Given the description of an element on the screen output the (x, y) to click on. 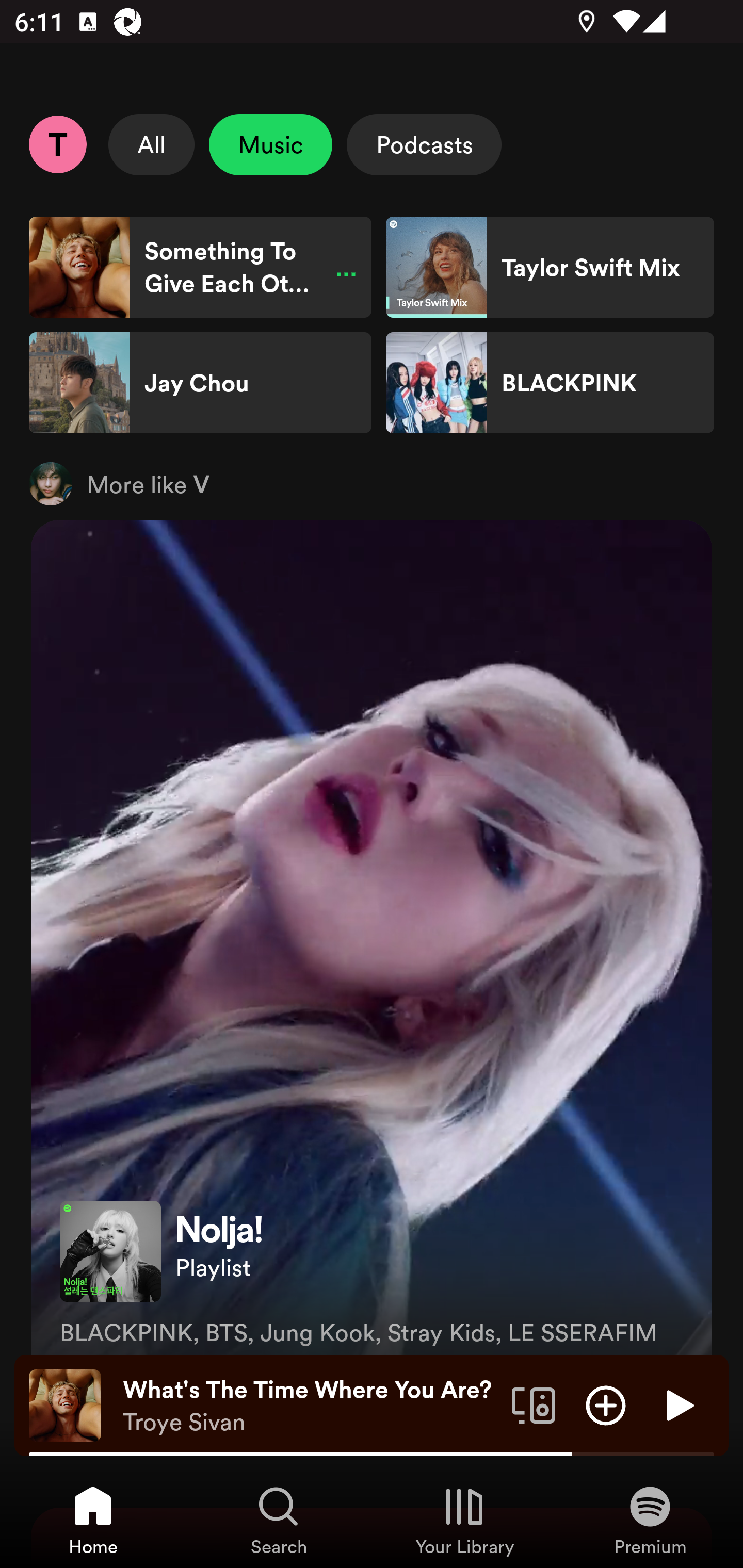
Profile (57, 144)
All Select All (151, 144)
Music Unselect Music (270, 144)
Podcasts Select Podcasts (423, 144)
Taylor Swift Mix Shortcut Taylor Swift Mix (549, 267)
Jay Chou Shortcut Jay Chou (199, 382)
BLACKPINK Shortcut BLACKPINK (549, 382)
More like V (371, 483)
What's The Time Where You Are? Troye Sivan (309, 1405)
The cover art of the currently playing track (64, 1404)
Connect to a device. Opens the devices menu (533, 1404)
Add item (605, 1404)
Play (677, 1404)
Home, Tab 1 of 4 Home Home (92, 1519)
Search, Tab 2 of 4 Search Search (278, 1519)
Your Library, Tab 3 of 4 Your Library Your Library (464, 1519)
Premium, Tab 4 of 4 Premium Premium (650, 1519)
